Given the description of an element on the screen output the (x, y) to click on. 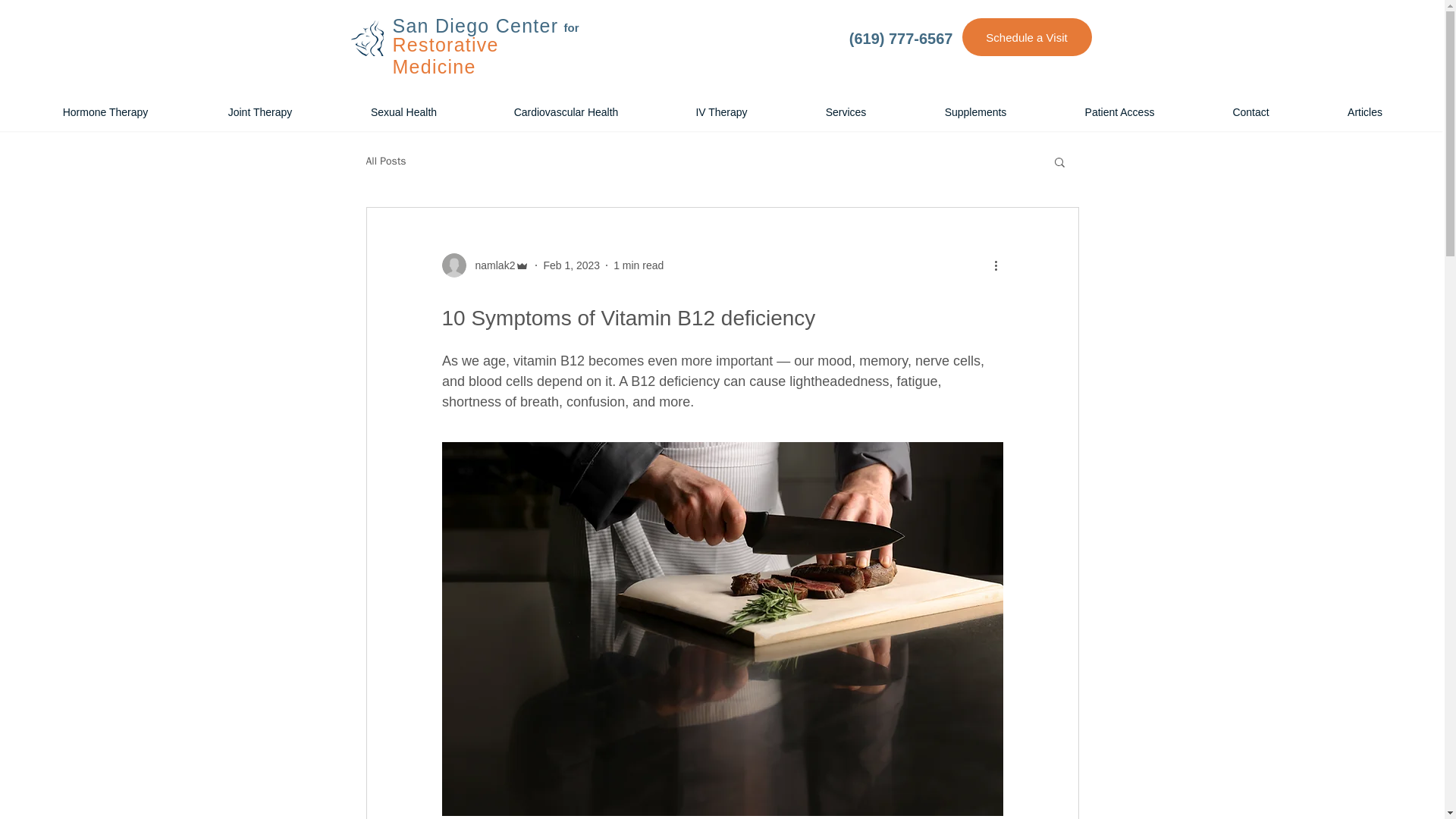
Restorative Medicine (446, 55)
Feb 1, 2023 (571, 265)
Contact (1250, 112)
San Diego Center (476, 25)
1 min read (637, 265)
namlak2 (490, 265)
for (571, 27)
Services (845, 112)
Supplements (975, 112)
Schedule a Visit (1025, 37)
